Given the description of an element on the screen output the (x, y) to click on. 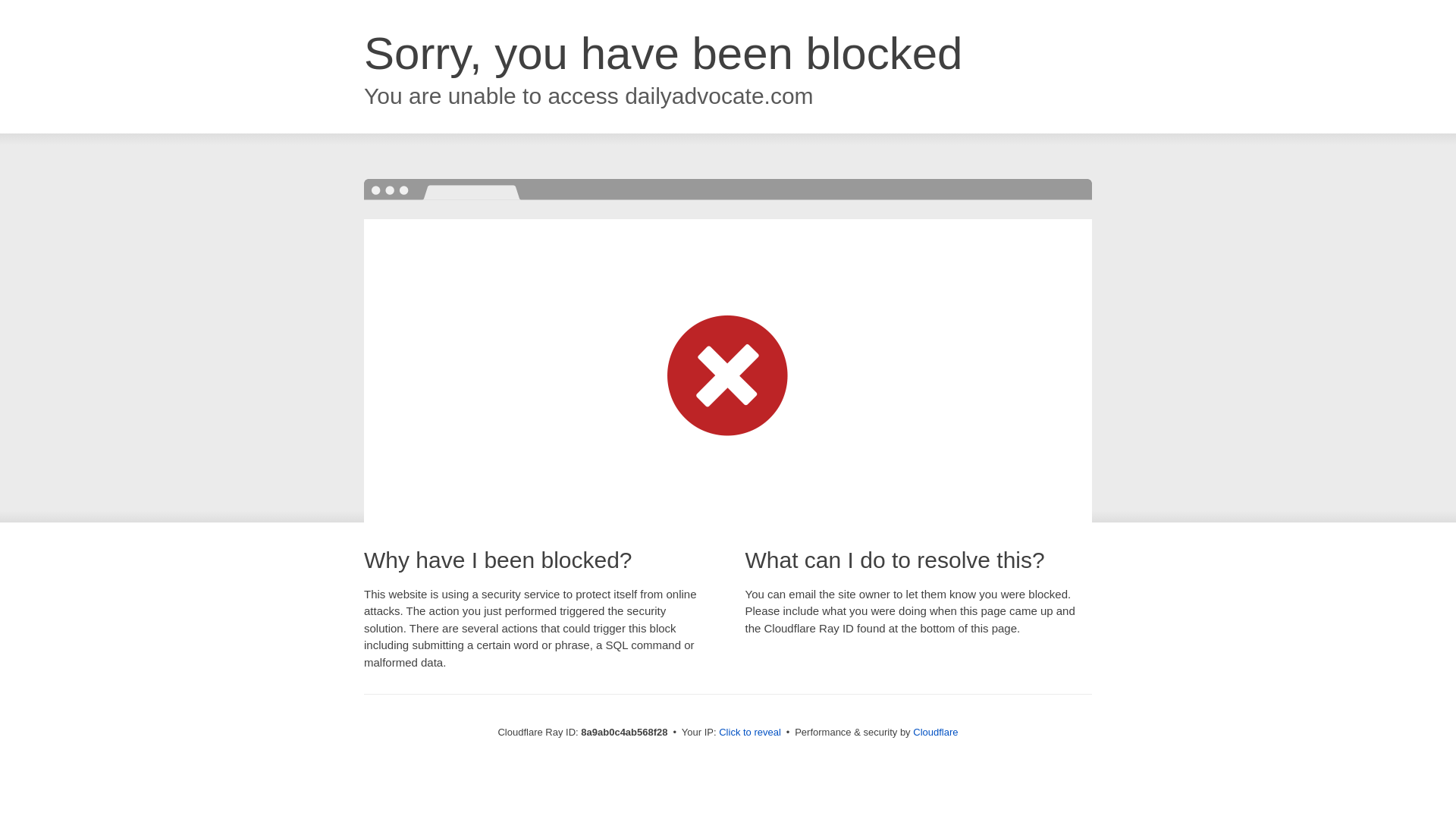
Cloudflare (935, 731)
Click to reveal (749, 732)
